Given the description of an element on the screen output the (x, y) to click on. 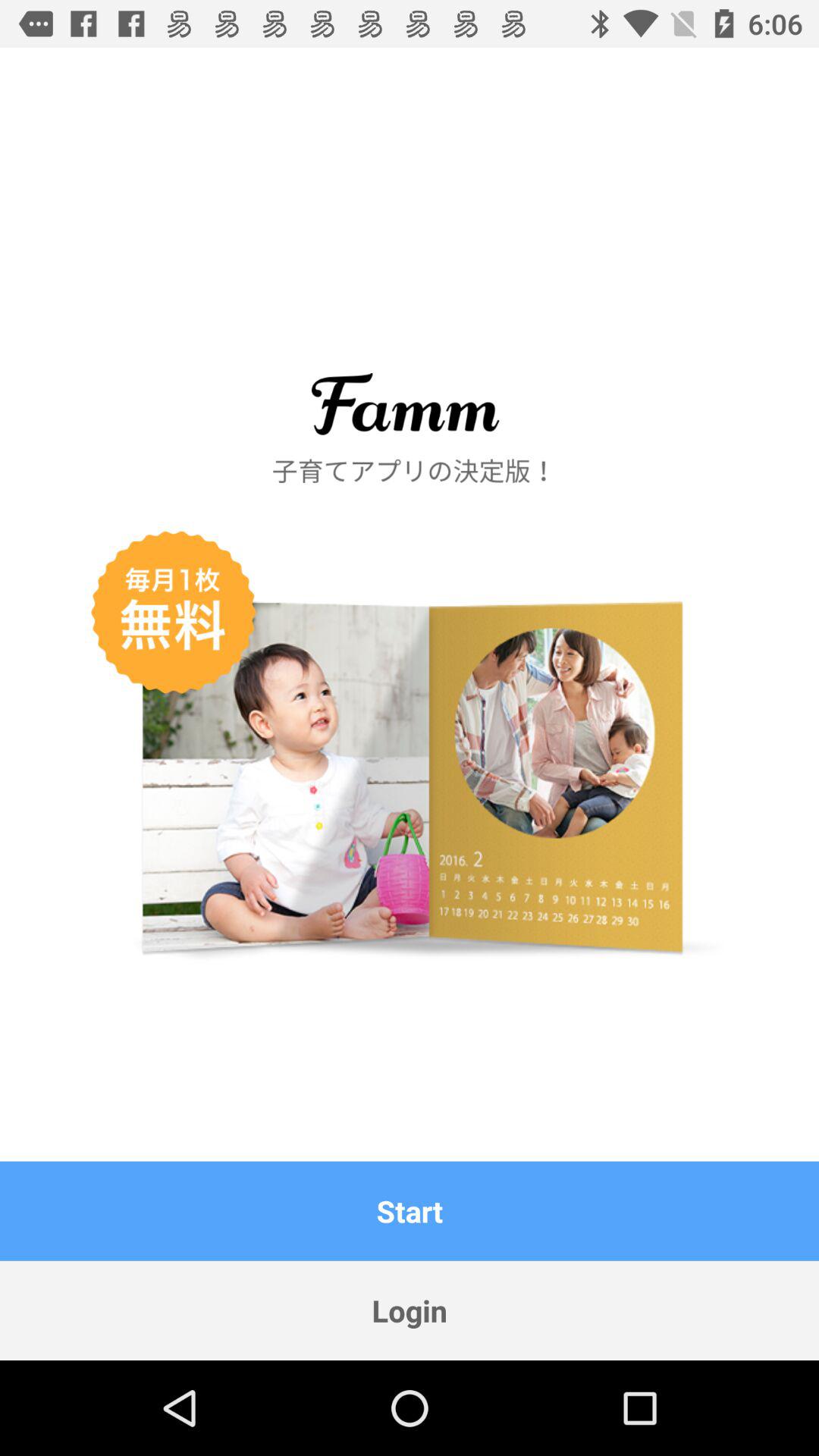
click the item above login (409, 1210)
